Given the description of an element on the screen output the (x, y) to click on. 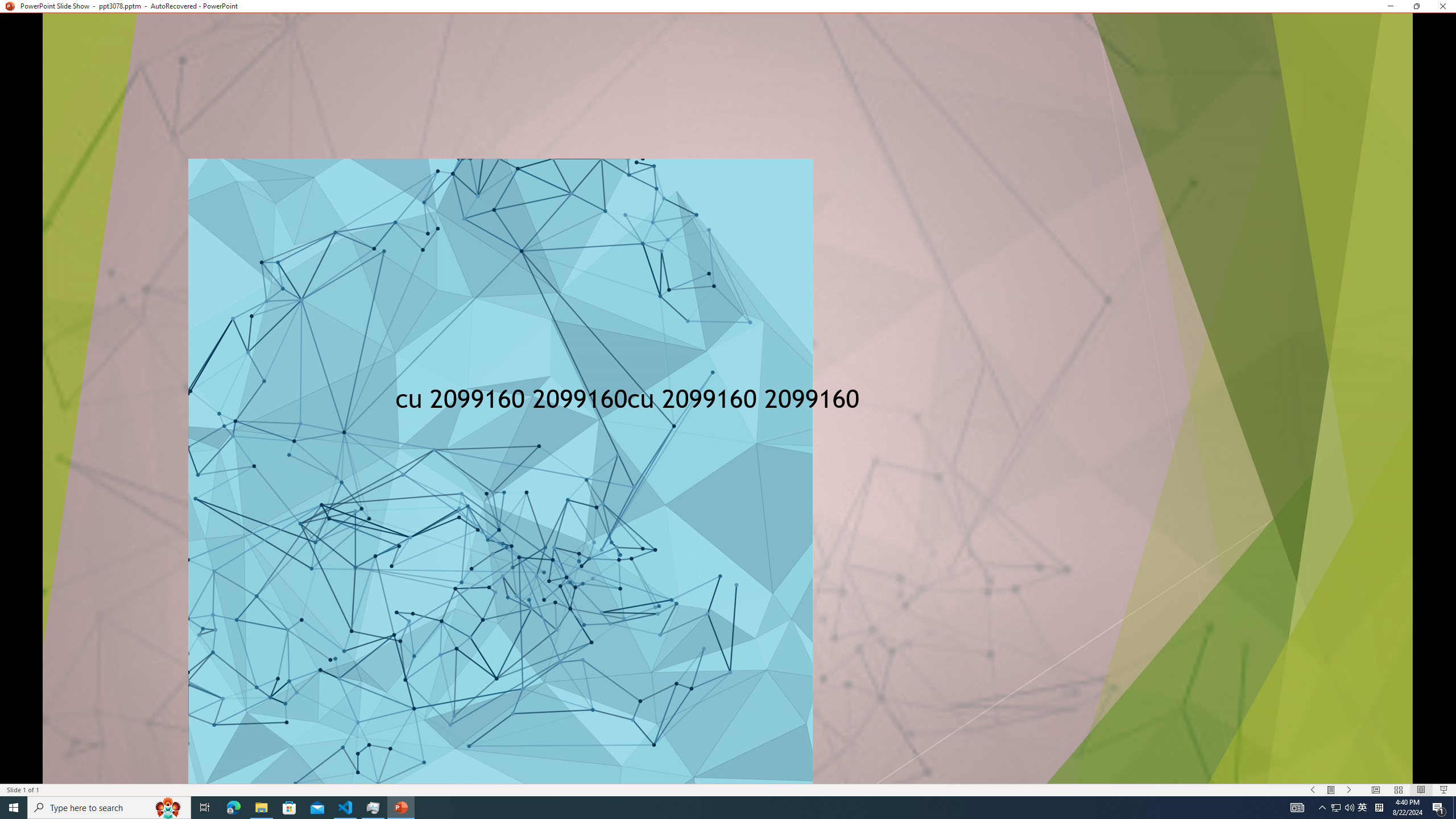
Slide Show Next On (1349, 790)
Slide Show Previous On (1313, 790)
Menu On (1331, 790)
